Given the description of an element on the screen output the (x, y) to click on. 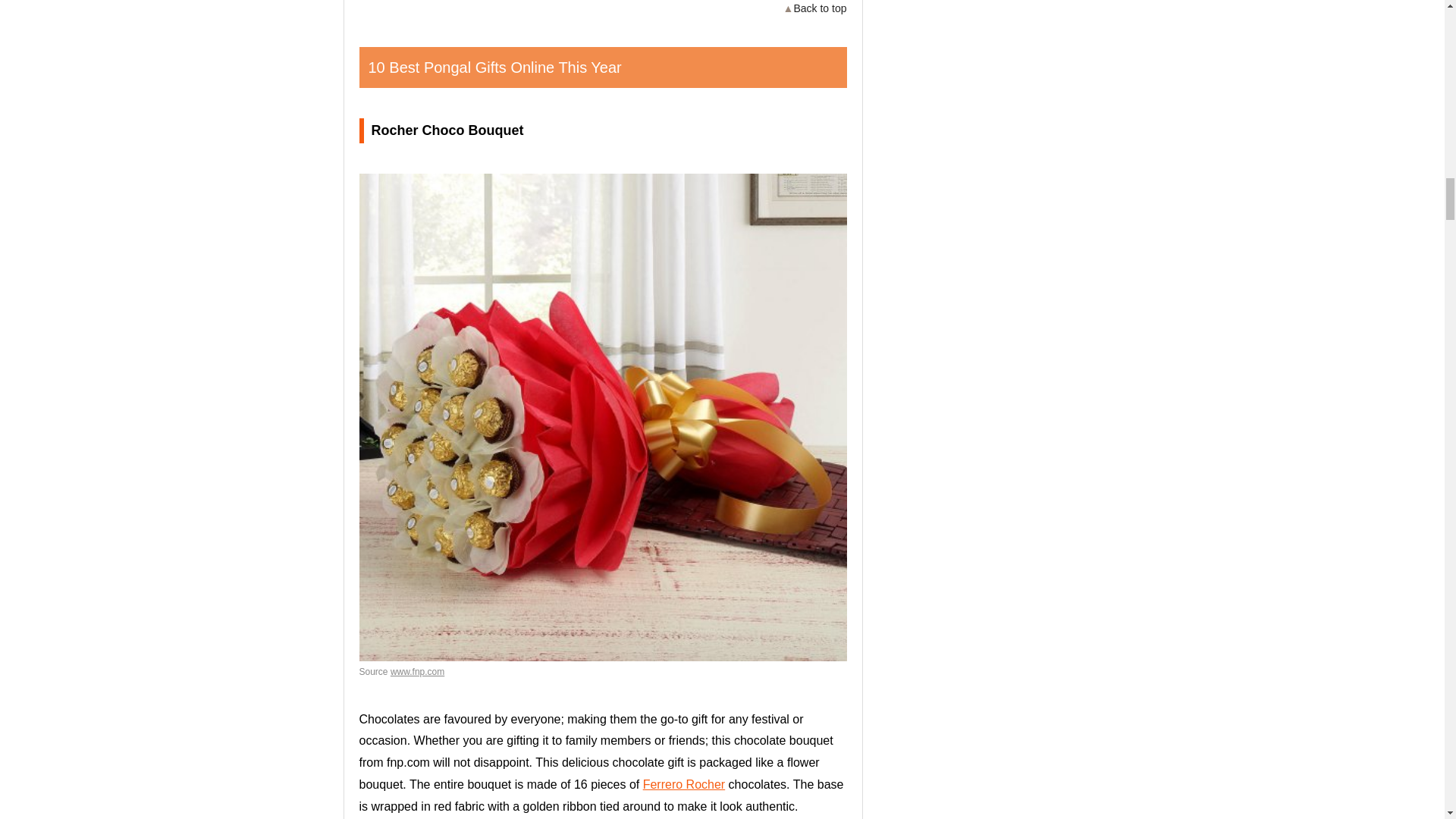
Ferrero Rocher (684, 784)
Back to top (815, 8)
www.fnp.com (417, 671)
